Given the description of an element on the screen output the (x, y) to click on. 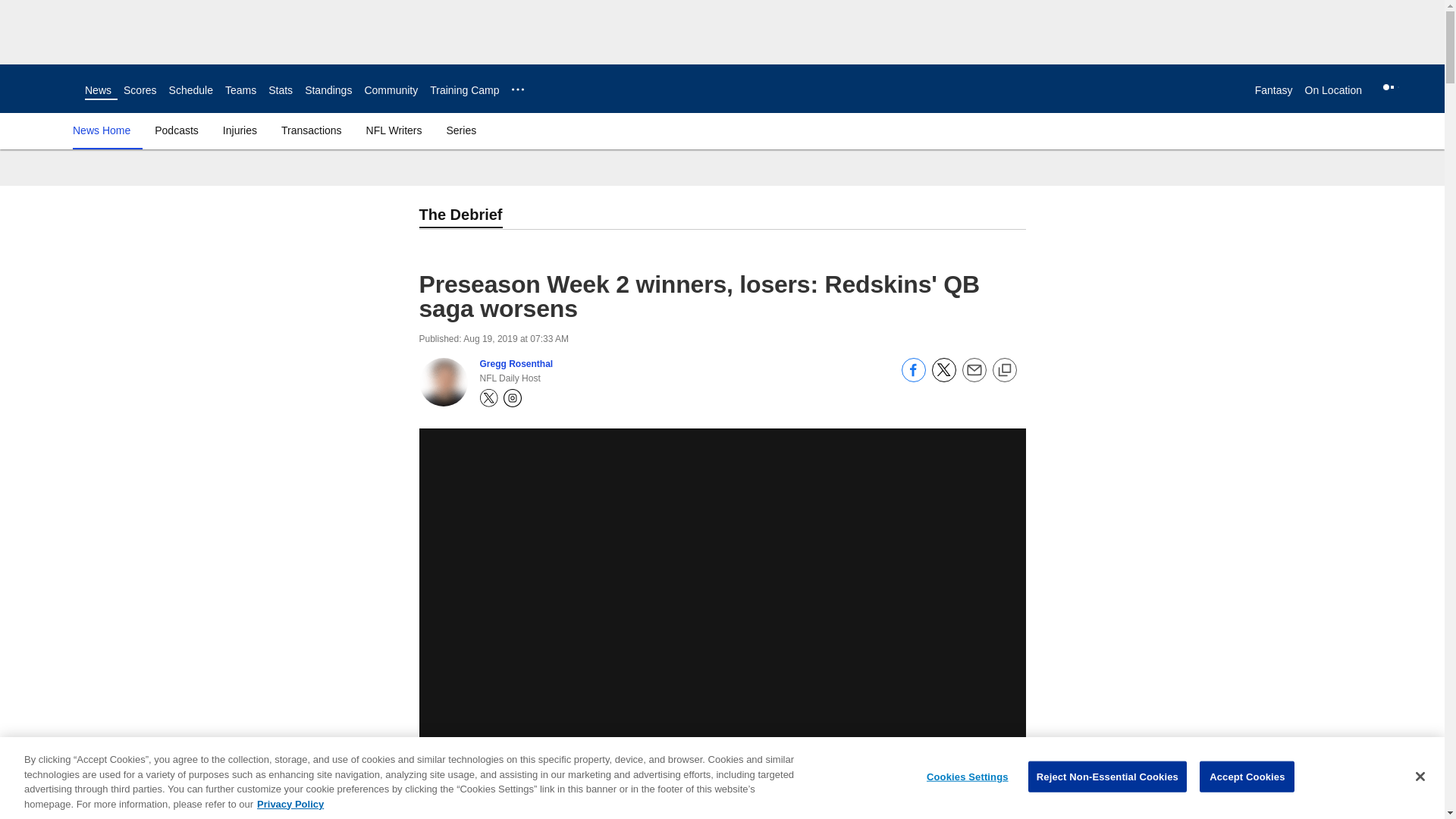
News (98, 90)
News (98, 90)
Link to NFL homepage (42, 88)
Schedule (190, 90)
Teams (240, 90)
Scores (140, 90)
Stats (279, 90)
Scores (140, 90)
Teams (240, 90)
Schedule (190, 90)
